Given the description of an element on the screen output the (x, y) to click on. 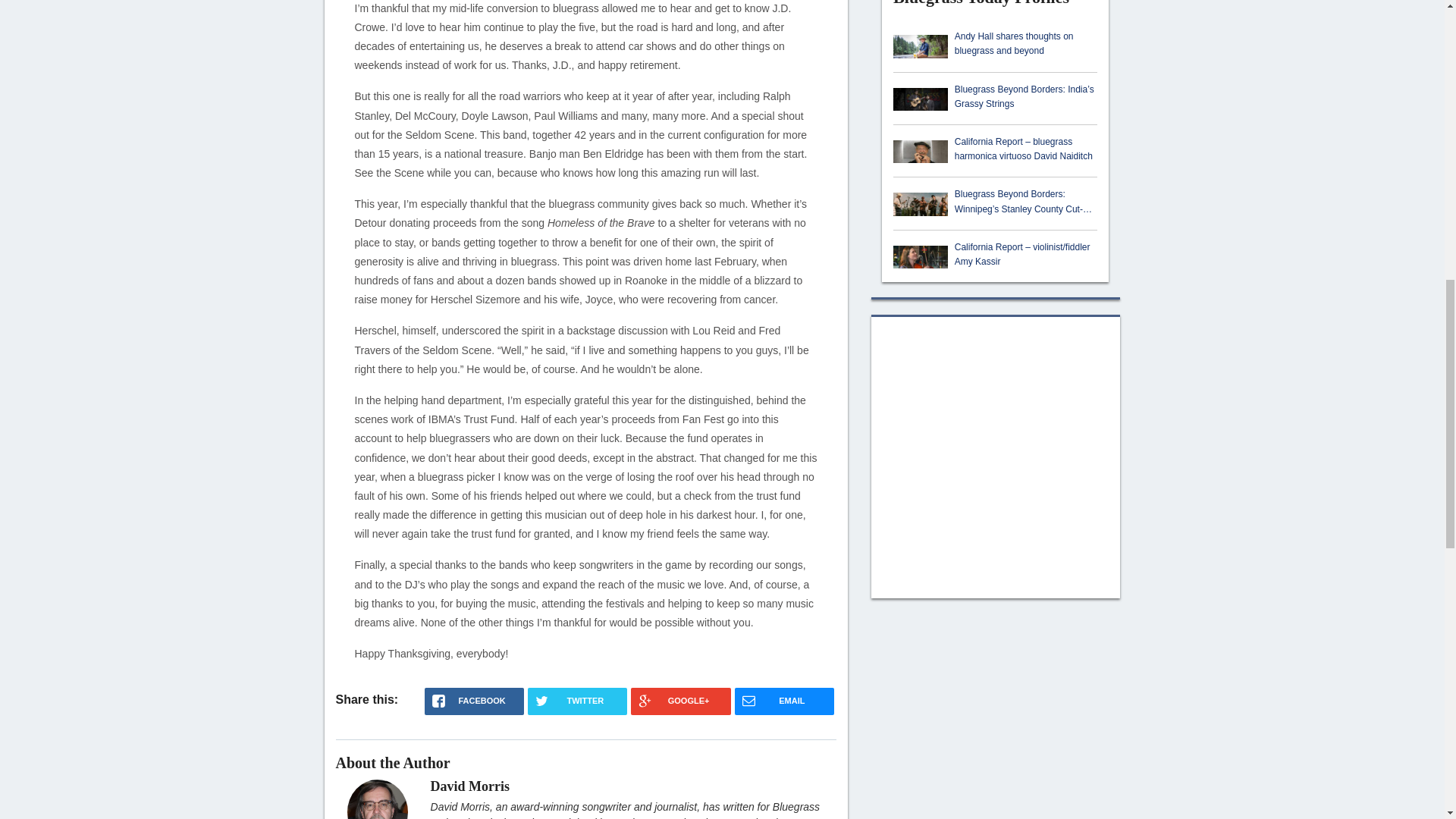
EMAIL (784, 700)
FACEBOOK (474, 700)
TWITTER (577, 700)
